Given the description of an element on the screen output the (x, y) to click on. 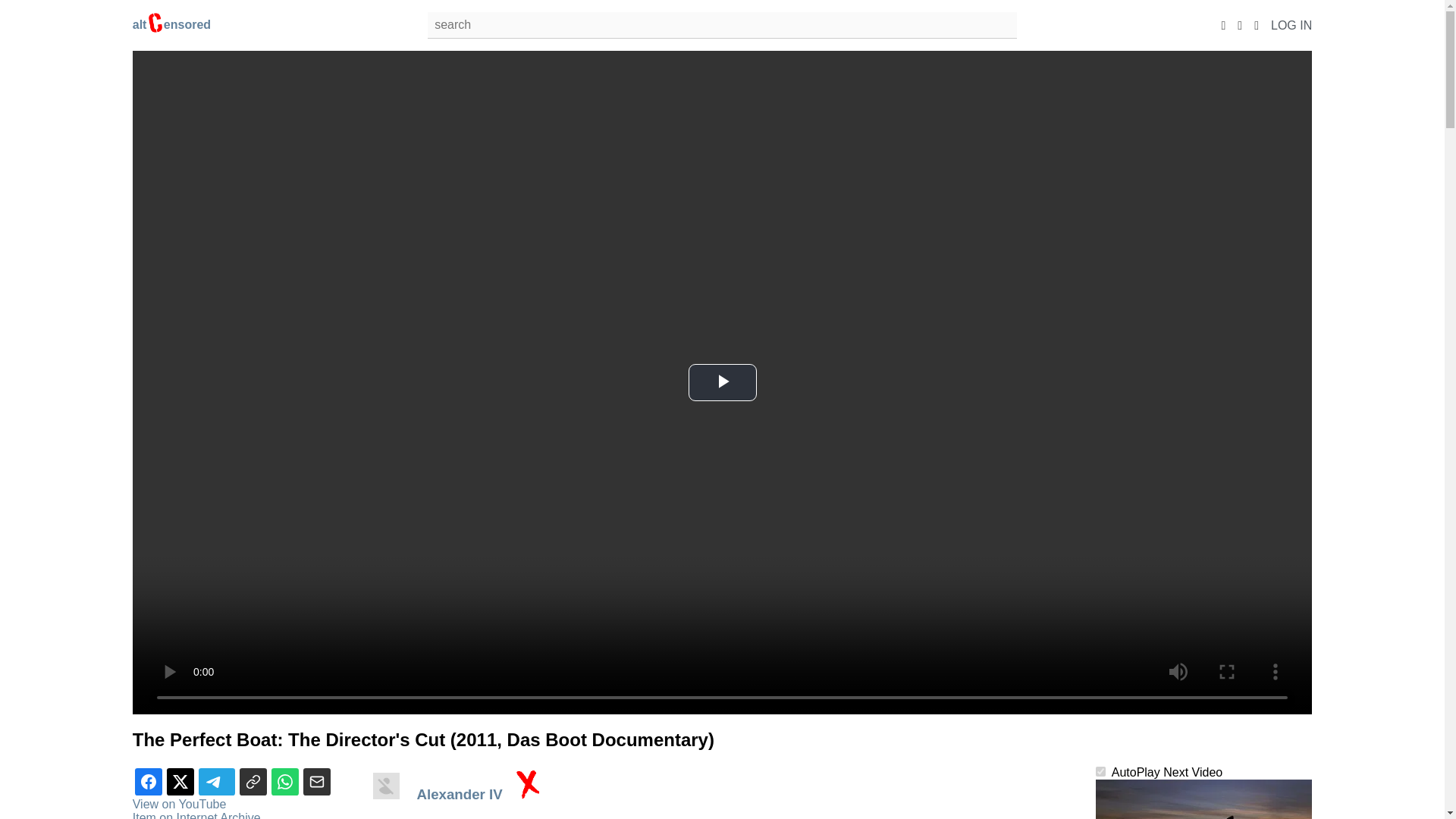
LOG IN (1291, 24)
alt ensored (171, 24)
Alexander IV (461, 794)
Item on Internet Archive (196, 815)
True (1100, 771)
View on YouTube (179, 803)
